Given the description of an element on the screen output the (x, y) to click on. 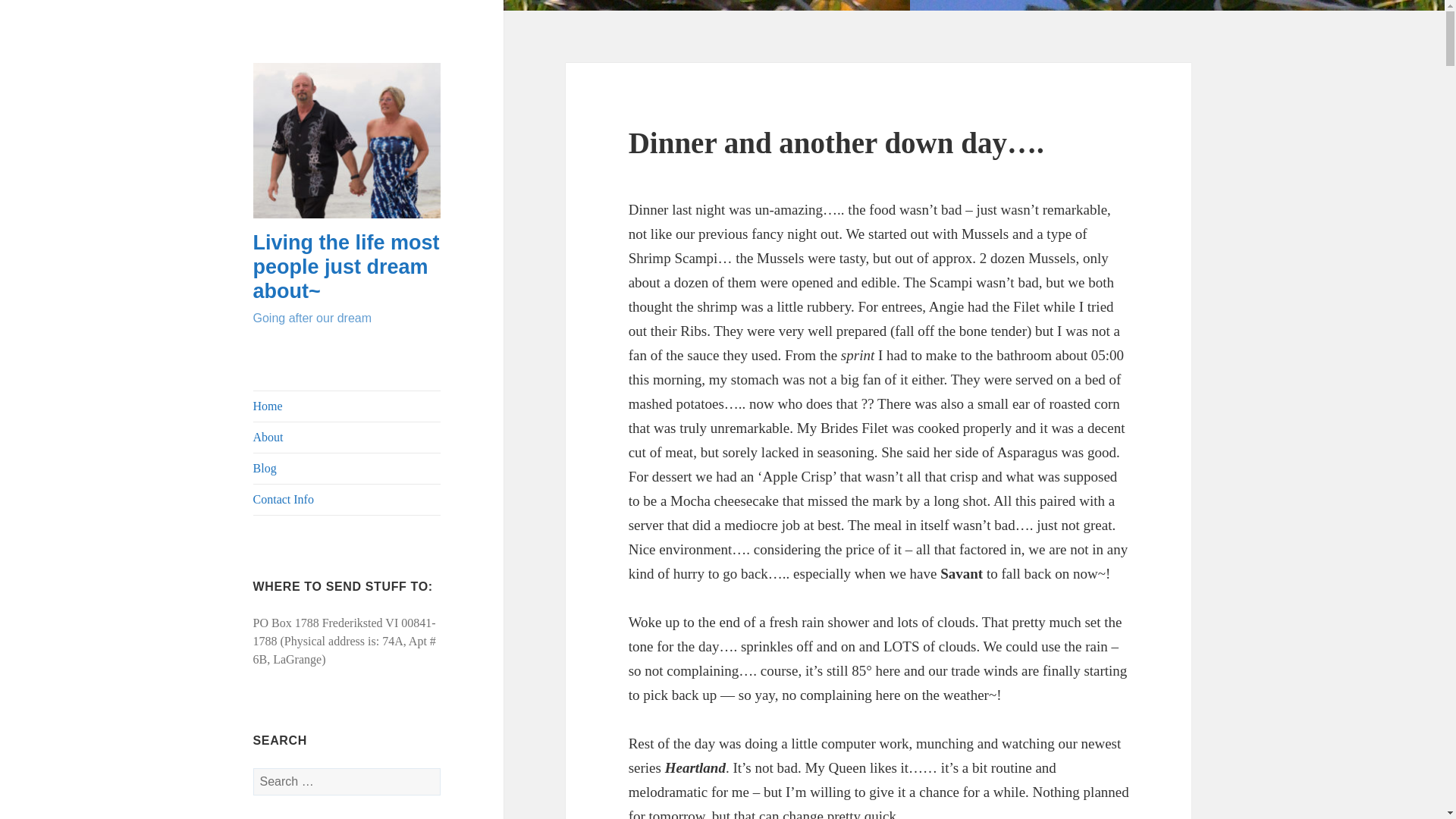
Blog (347, 468)
About (347, 437)
Home (347, 406)
Contact Info (347, 499)
